Given the description of an element on the screen output the (x, y) to click on. 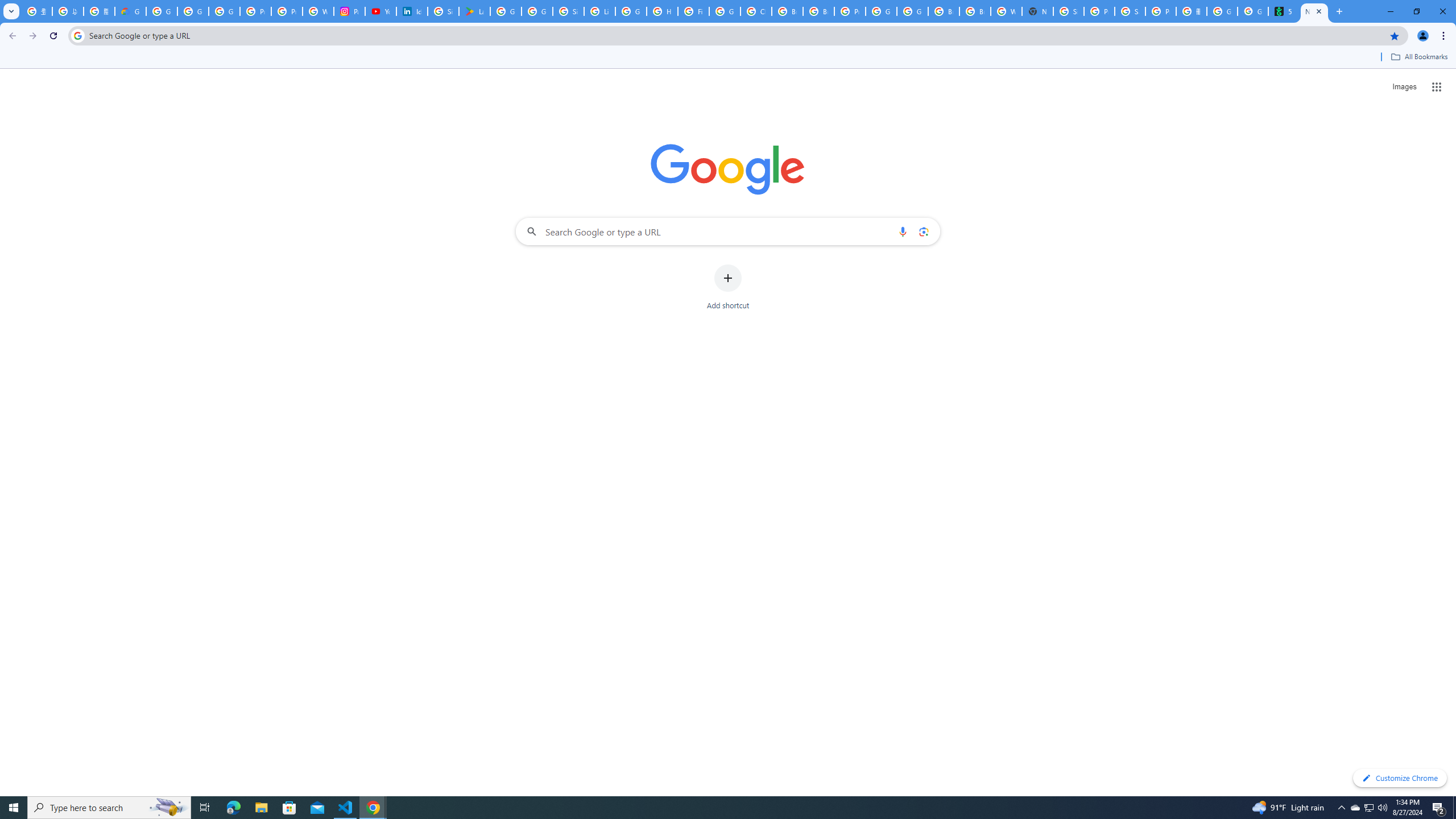
Google Cloud Platform (912, 11)
Google Workspace - Specific Terms (536, 11)
Last Shelter: Survival - Apps on Google Play (474, 11)
Privacy Help Center - Policies Help (286, 11)
Sign in - Google Accounts (443, 11)
